Given the description of an element on the screen output the (x, y) to click on. 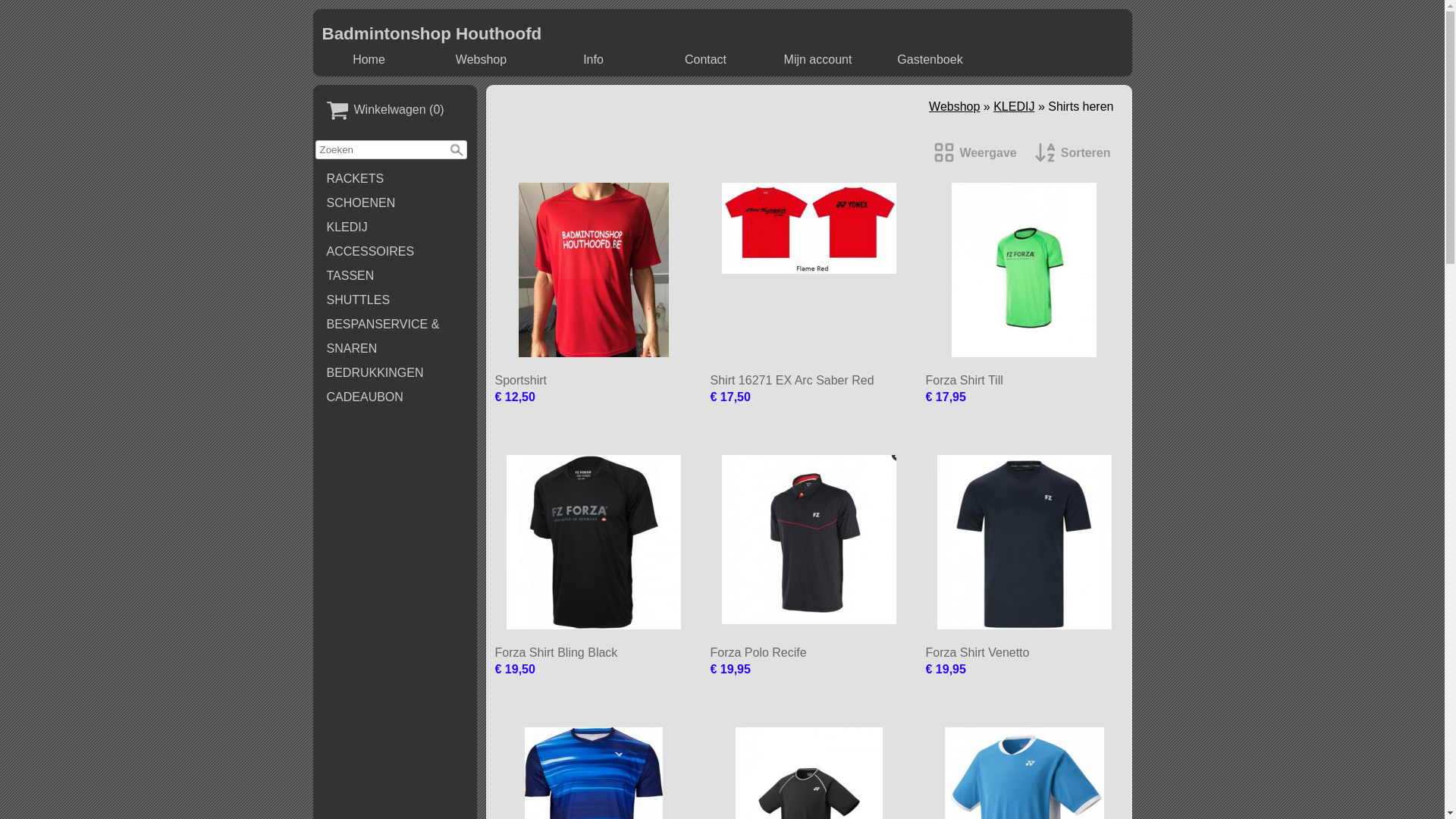
WinkelwagenWinkelwagen (0) Element type: text (394, 110)
BESPANSERVICE & SNAREN Element type: text (394, 336)
Gastenboek Element type: text (930, 59)
CADEAUBON Element type: text (394, 397)
KLEDIJ Element type: text (394, 227)
Info Element type: text (593, 59)
Weergave Element type: text (974, 153)
Sorteren Element type: text (1073, 153)
SCHOENEN Element type: text (394, 203)
Badmintonshop Houthoofd Element type: text (431, 33)
Contact Element type: text (705, 59)
BEDRUKKINGEN Element type: text (394, 372)
KLEDIJ Element type: text (1013, 106)
Mijn account Element type: text (817, 59)
TASSEN Element type: text (394, 275)
Webshop Element type: text (953, 106)
Webshop Element type: text (481, 59)
Home Element type: text (368, 59)
SHUTTLES Element type: text (394, 300)
ACCESSOIRES Element type: text (394, 251)
RACKETS Element type: text (394, 178)
